Given the description of an element on the screen output the (x, y) to click on. 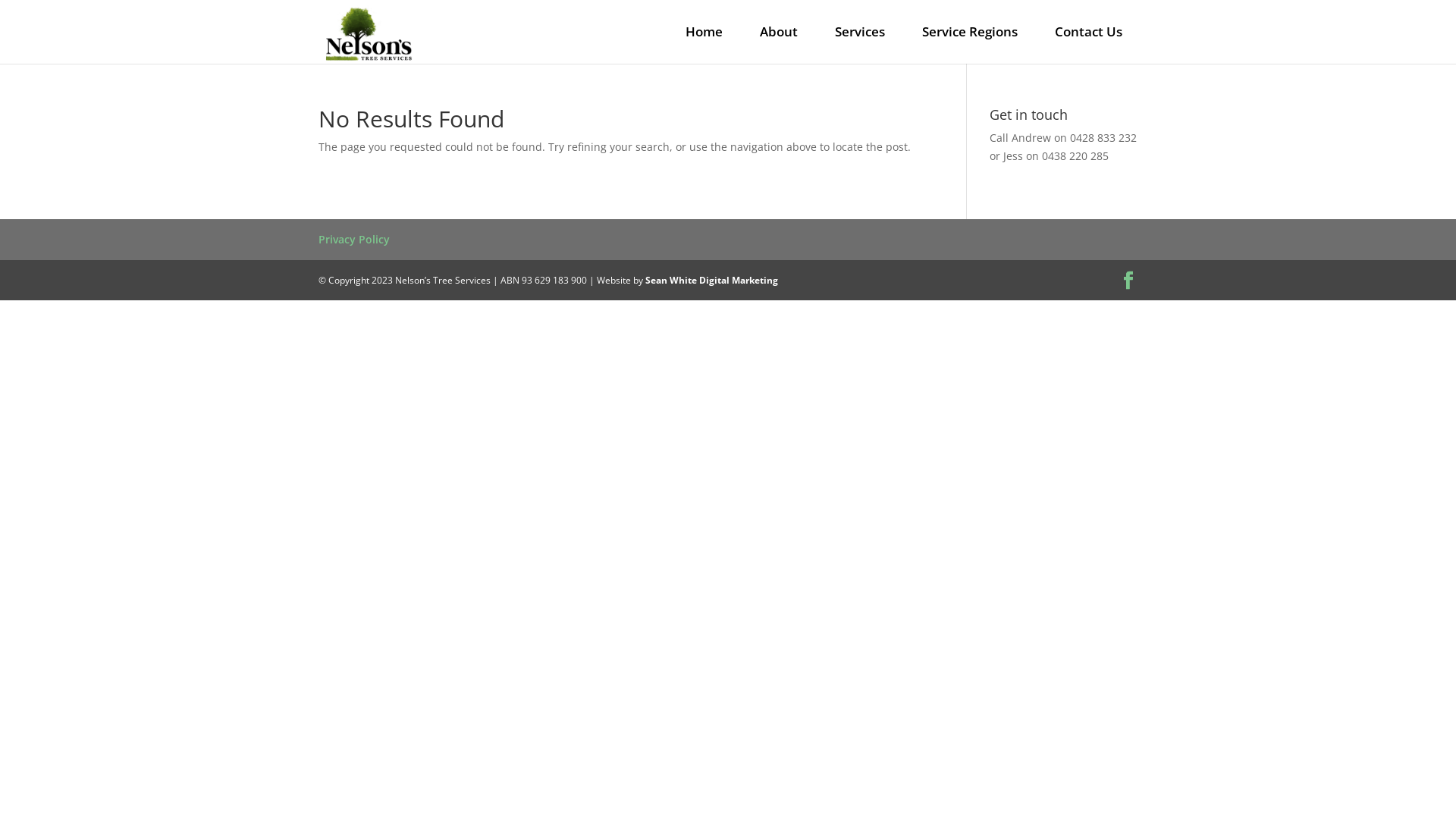
Sean White Digital Marketing Element type: text (711, 279)
About Element type: text (778, 31)
Contact Us Element type: text (1088, 31)
Services Element type: text (859, 31)
Home Element type: text (703, 31)
Service Regions Element type: text (969, 31)
Privacy Policy Element type: text (353, 239)
